Given the description of an element on the screen output the (x, y) to click on. 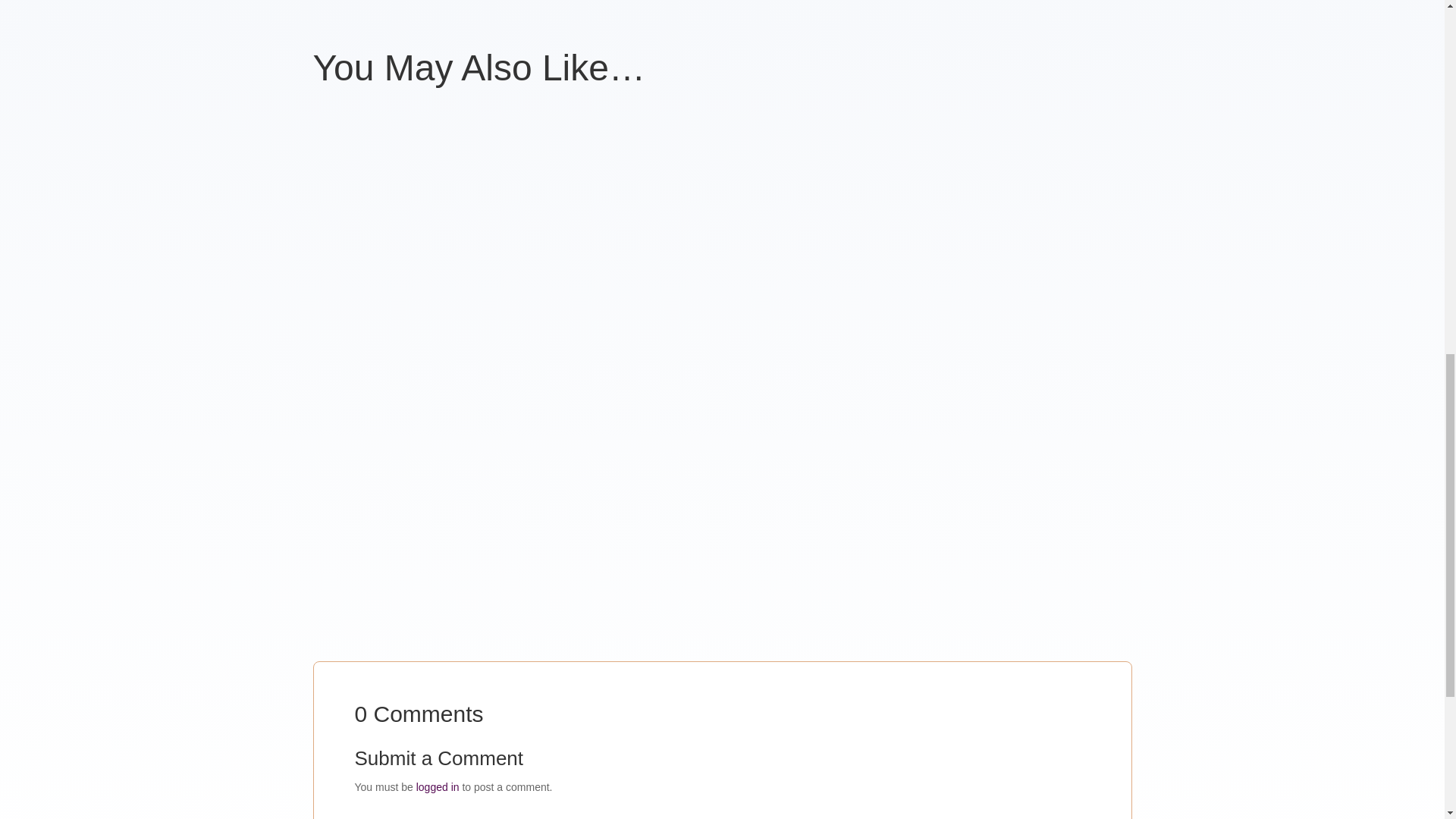
logged in (438, 787)
